Given the description of an element on the screen output the (x, y) to click on. 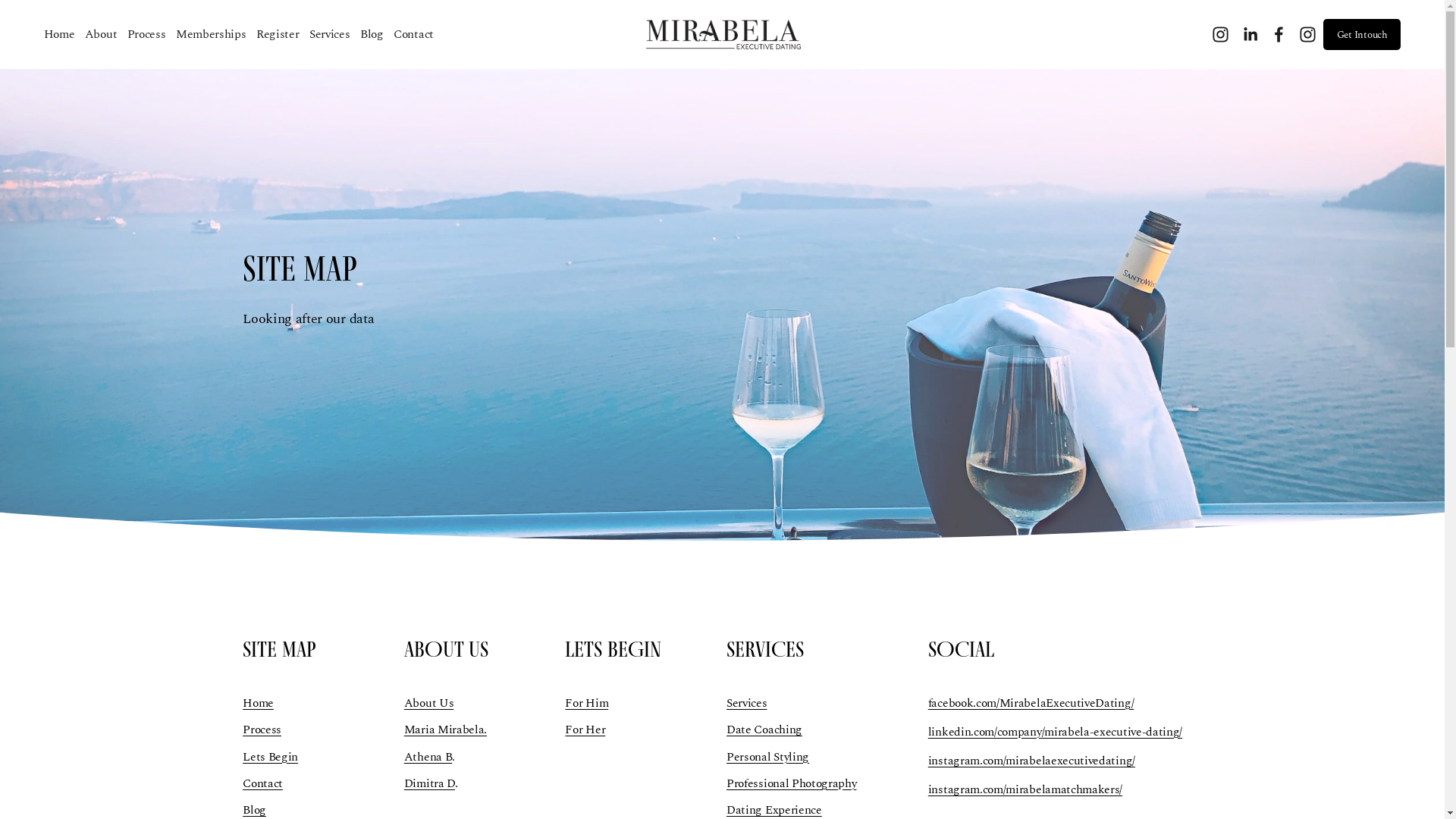
Memberships Element type: text (210, 33)
Date Coaching Element type: text (764, 729)
Home Element type: text (257, 702)
Register Element type: text (277, 33)
instagram.com/mirabelaexecutivedating/ Element type: text (1031, 760)
instagram.com/mirabelamatchmakers/ Element type: text (1025, 789)
About Us Element type: text (429, 702)
Dimitra D Element type: text (429, 783)
Services Element type: text (746, 702)
Lets Begin Element type: text (270, 756)
Professional Photography Element type: text (791, 783)
About Element type: text (100, 33)
For Him Element type: text (586, 702)
Blog Element type: text (371, 33)
Contact Element type: text (262, 783)
Process Element type: text (261, 729)
Process Element type: text (146, 33)
Get Intouch Element type: text (1361, 34)
Athena B Element type: text (428, 756)
Services Element type: text (329, 33)
facebook.com/MirabelaExecutiveDating/ Element type: text (1030, 702)
Contact Element type: text (413, 33)
Home Element type: text (59, 33)
Personal Styling Element type: text (767, 756)
linkedin.com/company/mirabela-executive-dating/ Element type: text (1055, 731)
For Her Element type: text (584, 729)
Maria Mirabela. Element type: text (445, 729)
